Given the description of an element on the screen output the (x, y) to click on. 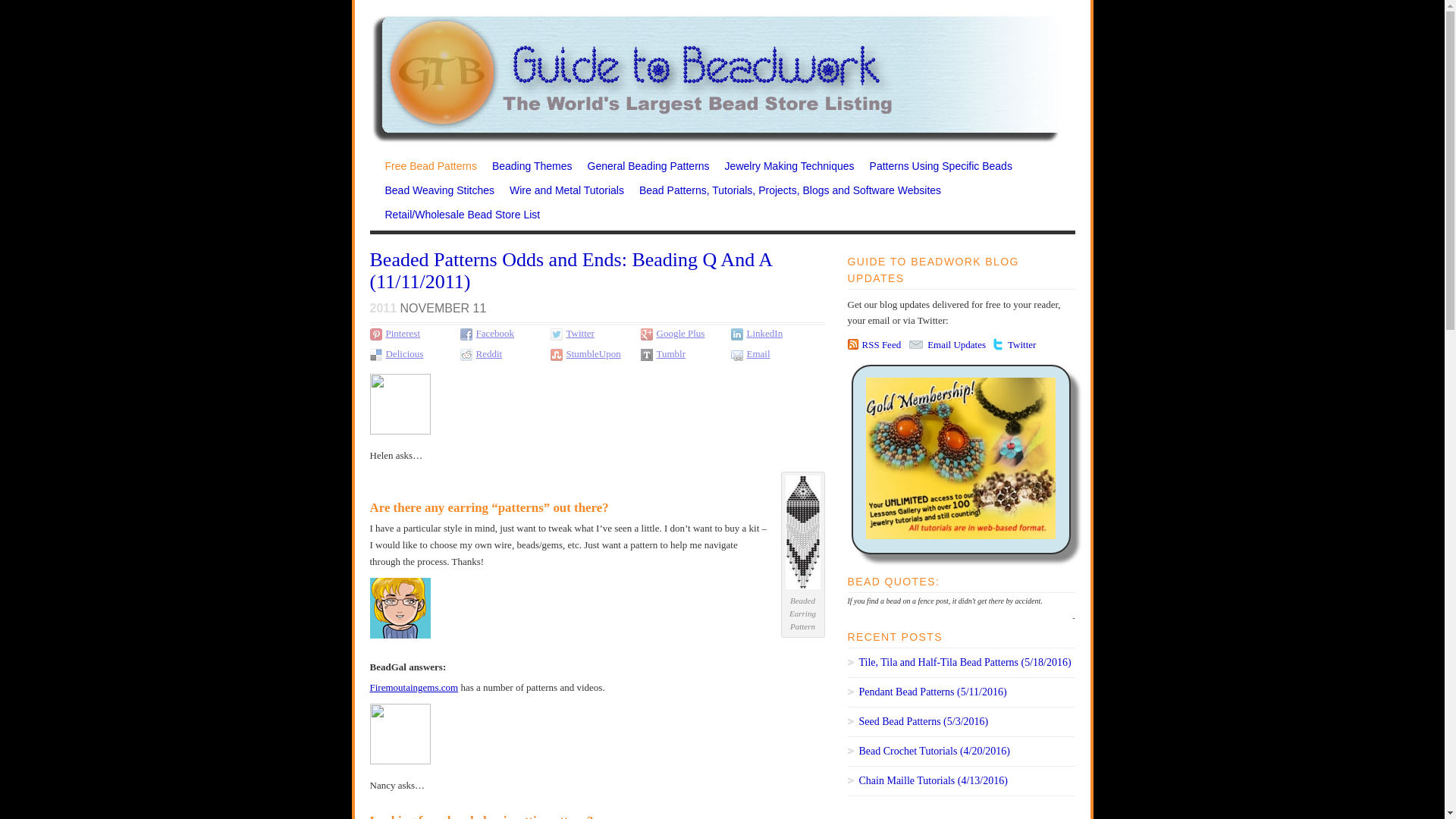
Submit this to StumbleUpon (593, 353)
Pinterest (402, 333)
Jewelry Making Techniques (785, 169)
Share this on Google Plus (680, 333)
Share this on Facebook (468, 333)
Submit this to Pinterest (402, 333)
Tweet this ! (558, 333)
Share this on Facebook (495, 333)
Wire and Metal Tutorials (563, 193)
